Given the description of an element on the screen output the (x, y) to click on. 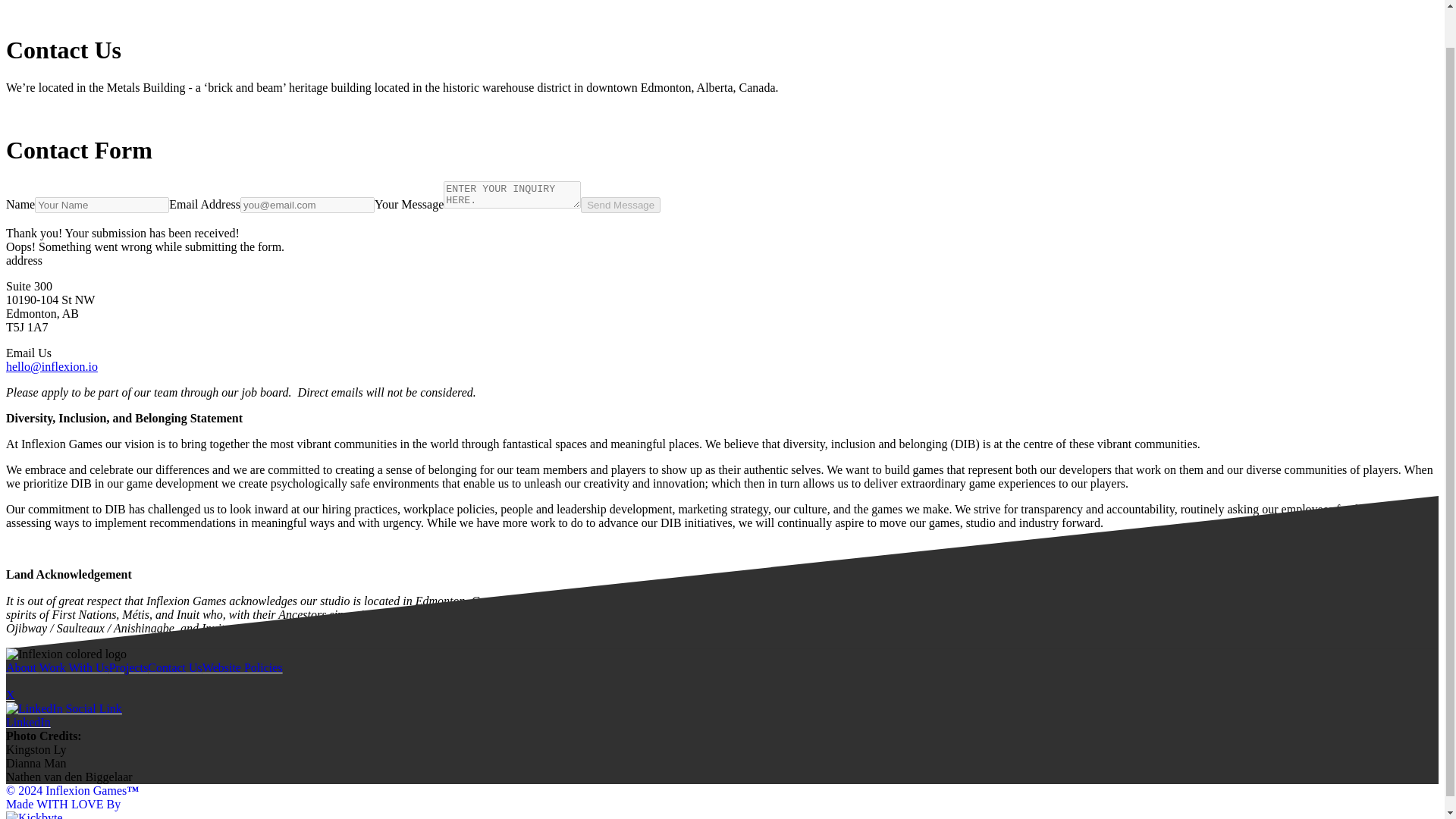
Send Message (620, 204)
Send Message (620, 204)
Website Policies (242, 667)
Work With Us (74, 667)
X (143, 708)
Contact Us (175, 667)
LinkedIn (143, 715)
About (22, 667)
Projects (128, 667)
